Given the description of an element on the screen output the (x, y) to click on. 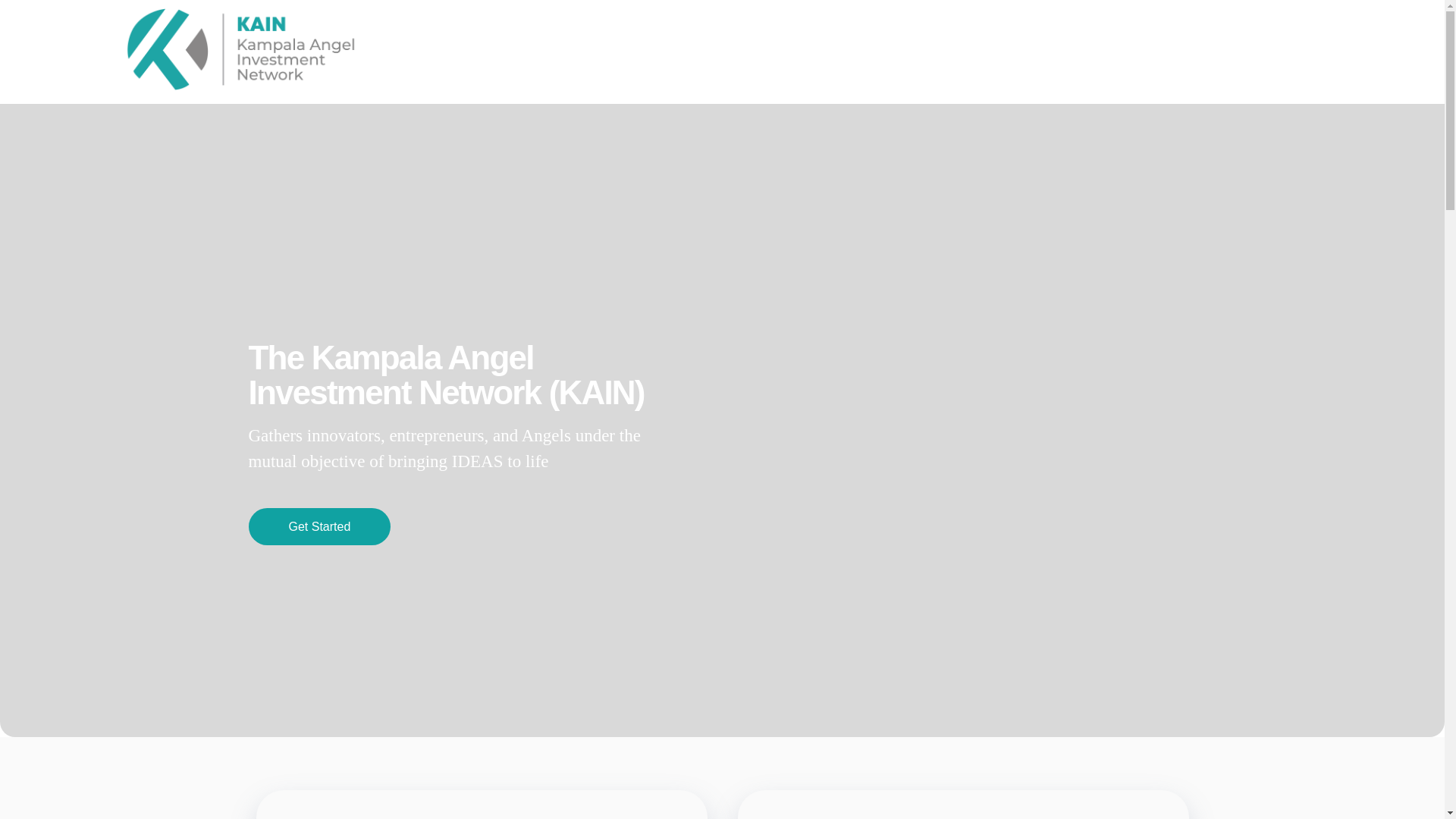
KAIN (144, 99)
KAIN (144, 99)
KAIN (253, 48)
